Given the description of an element on the screen output the (x, y) to click on. 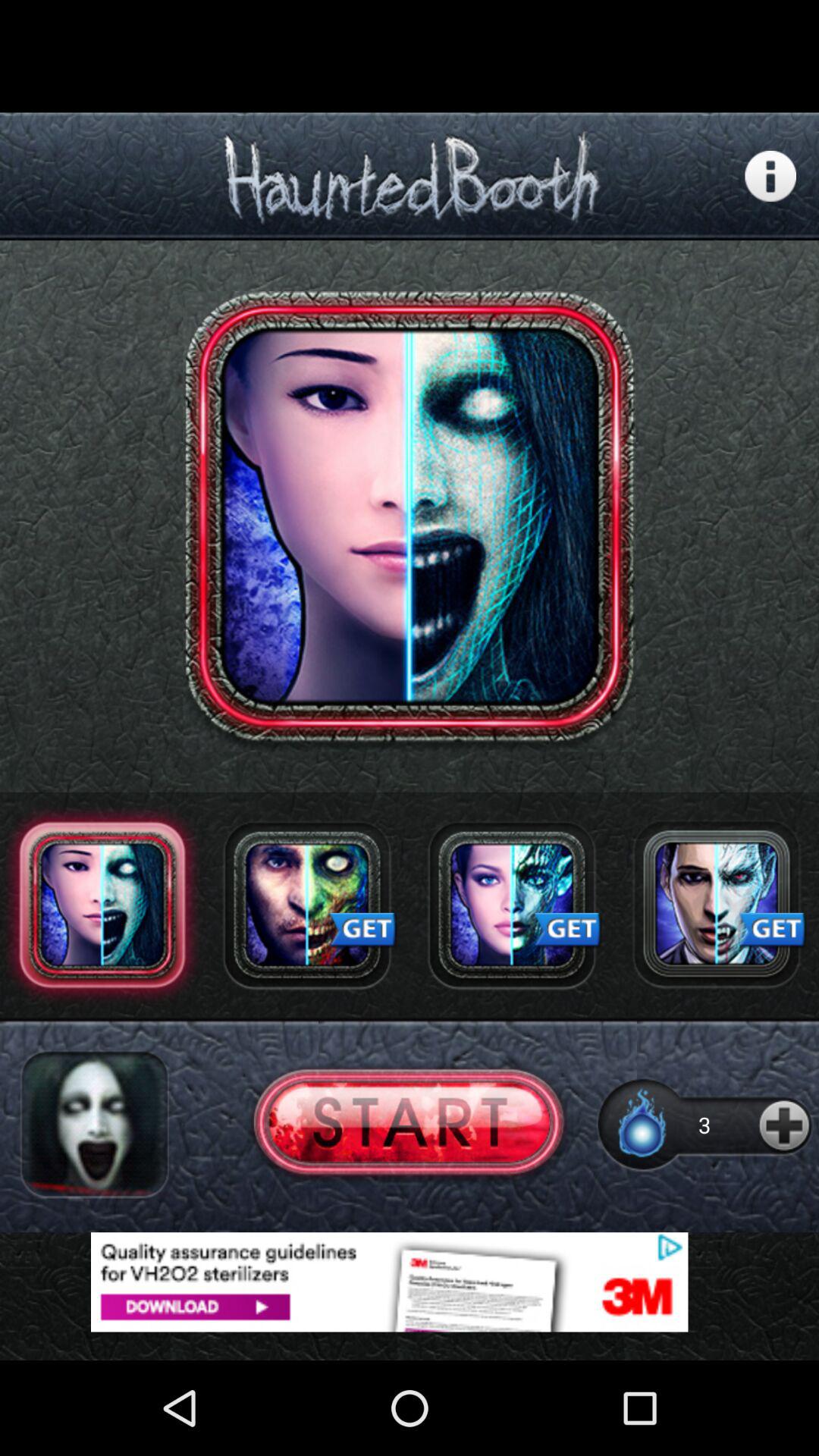
choose this (409, 1124)
